Given the description of an element on the screen output the (x, y) to click on. 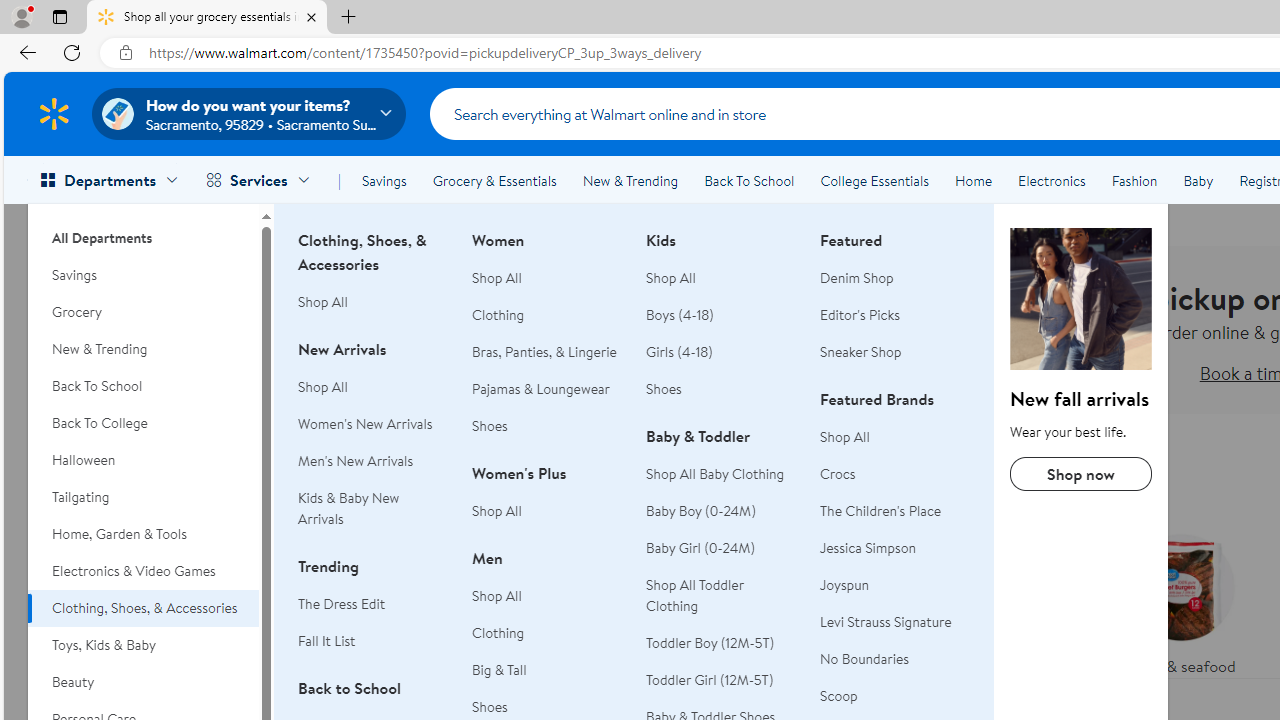
Big & Tall (499, 669)
Kids & Baby New Arrivals (373, 508)
Electronics & Video Games (143, 570)
Baby (1197, 180)
Denim Shop (895, 277)
Electronics & Video Games (143, 570)
No Boundaries (895, 659)
Back To College (143, 423)
Clothing, Shoes, & Accessories (143, 608)
Shop All Baby Clothing (721, 474)
Back To School (749, 180)
